Given the description of an element on the screen output the (x, y) to click on. 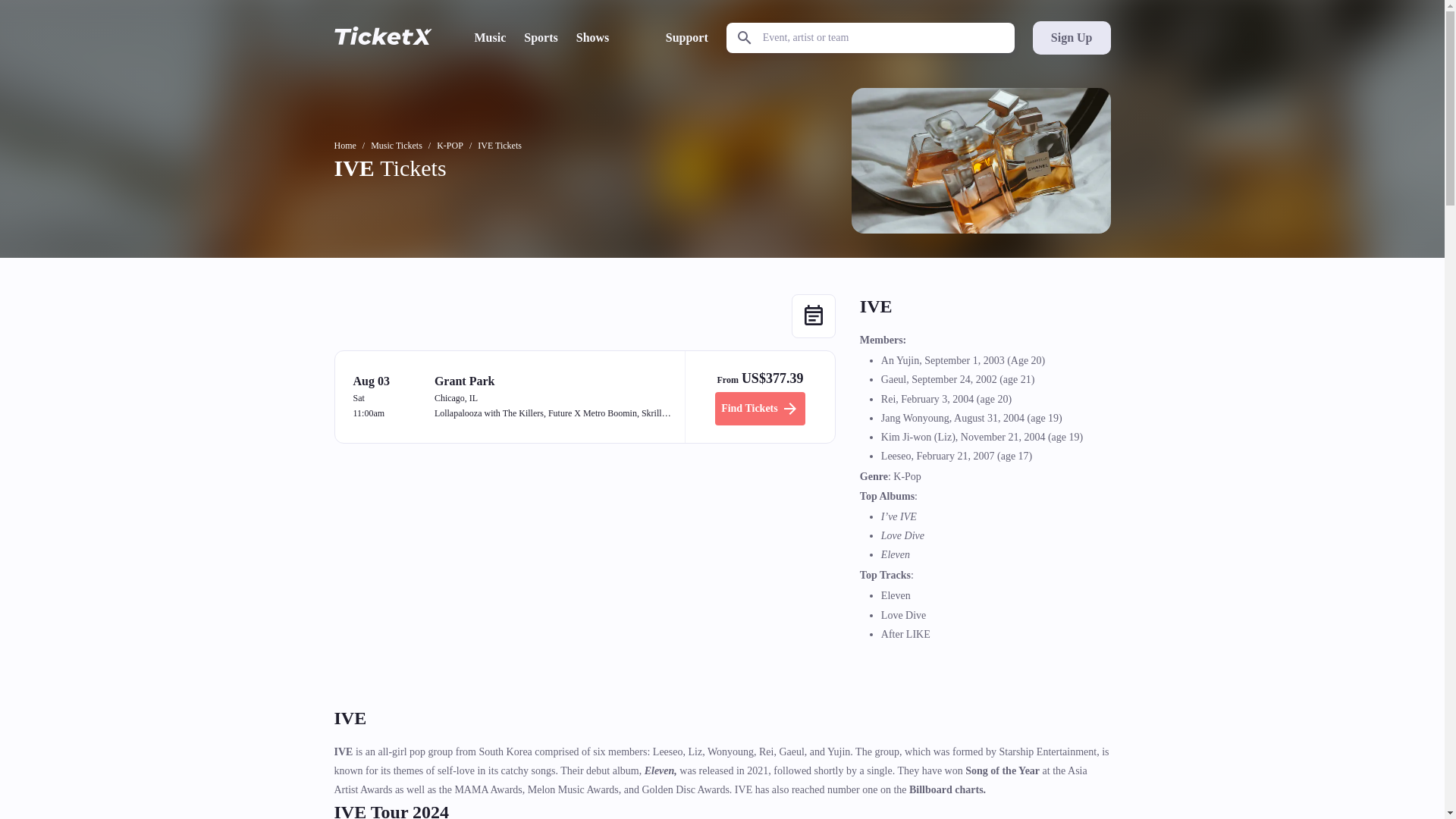
Sign Up (1071, 37)
Support (686, 37)
Music Tickets (396, 145)
K-POP (449, 145)
Shows (593, 37)
Event, artist or team (870, 37)
Home (344, 145)
Sports (540, 37)
Music (490, 37)
Find Tickets (759, 408)
